Given the description of an element on the screen output the (x, y) to click on. 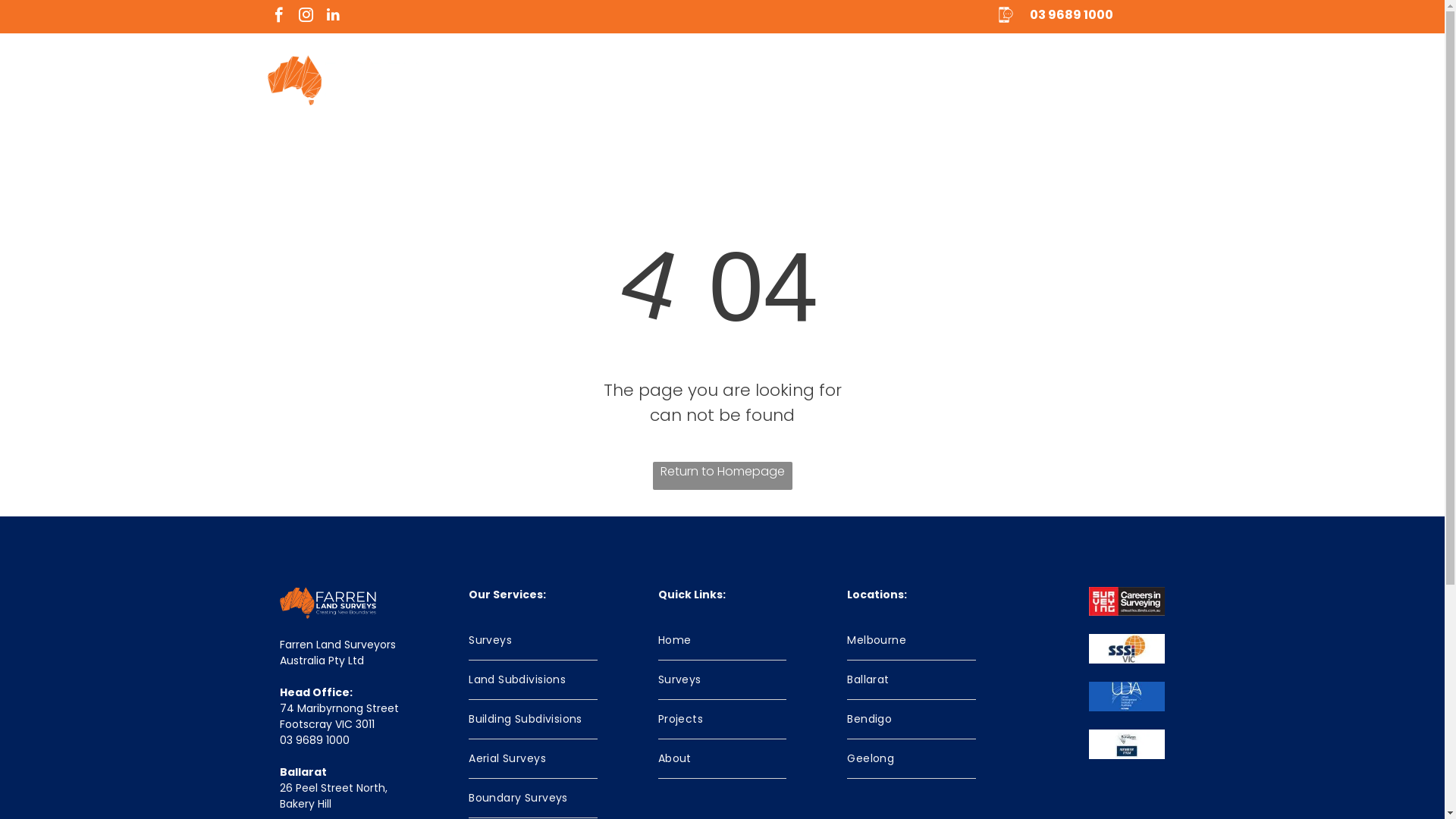
Building Subdivisions Element type: text (532, 718)
Home Element type: text (722, 640)
Aerial Surveys Element type: text (532, 758)
03 9689 1000 Element type: text (1071, 14)
Town Planning Element type: text (786, 79)
About Element type: text (722, 758)
Ballarat Element type: text (911, 679)
Contact Element type: text (1102, 79)
Return to Homepage Element type: text (721, 475)
Bendigo Element type: text (911, 718)
About Element type: text (1022, 79)
Melbourne Element type: text (911, 640)
Home Element type: text (602, 79)
Surveys Element type: text (532, 640)
Surveys Element type: text (722, 679)
Surveys Element type: text (678, 79)
Boundary Surveys Element type: text (532, 797)
Projects Element type: text (722, 718)
Geelong Element type: text (911, 758)
Land Subdivisions Element type: text (532, 679)
Hydrographic Element type: text (915, 79)
